Given the description of an element on the screen output the (x, y) to click on. 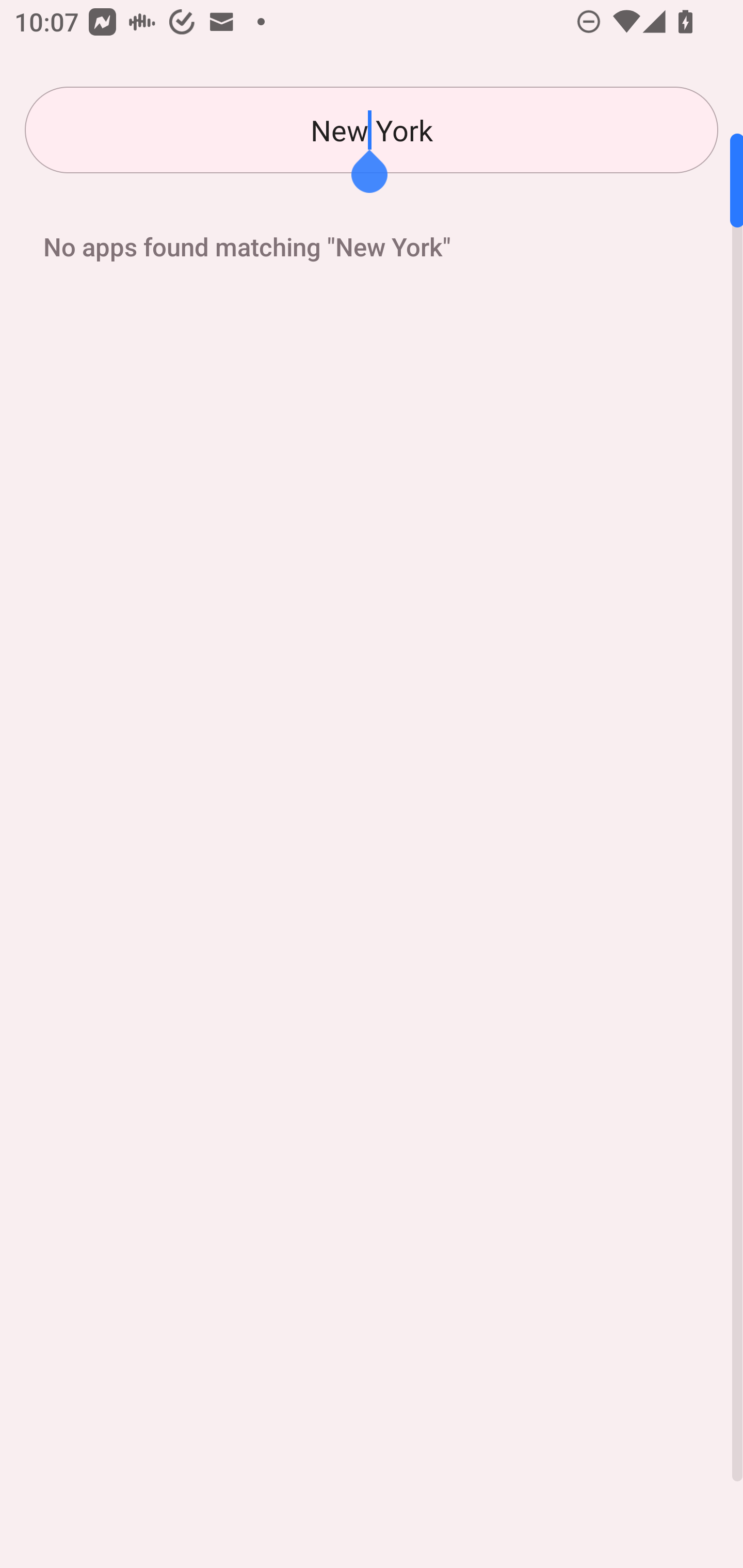
New York (371, 130)
